Given the description of an element on the screen output the (x, y) to click on. 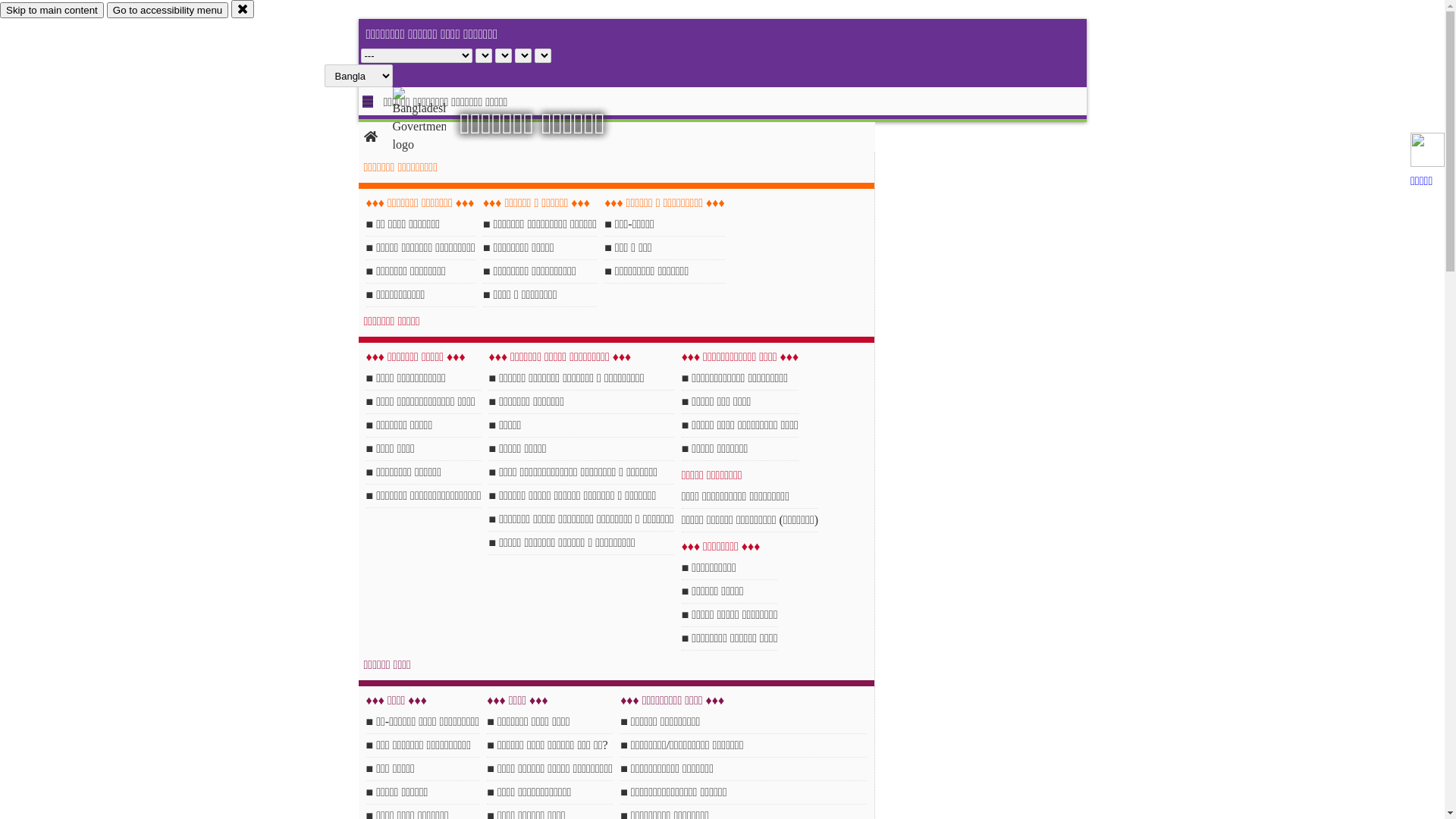

                
             Element type: hover (431, 120)
Skip to main content Element type: text (51, 10)
Go to accessibility menu Element type: text (167, 10)
close Element type: hover (242, 9)
